Given the description of an element on the screen output the (x, y) to click on. 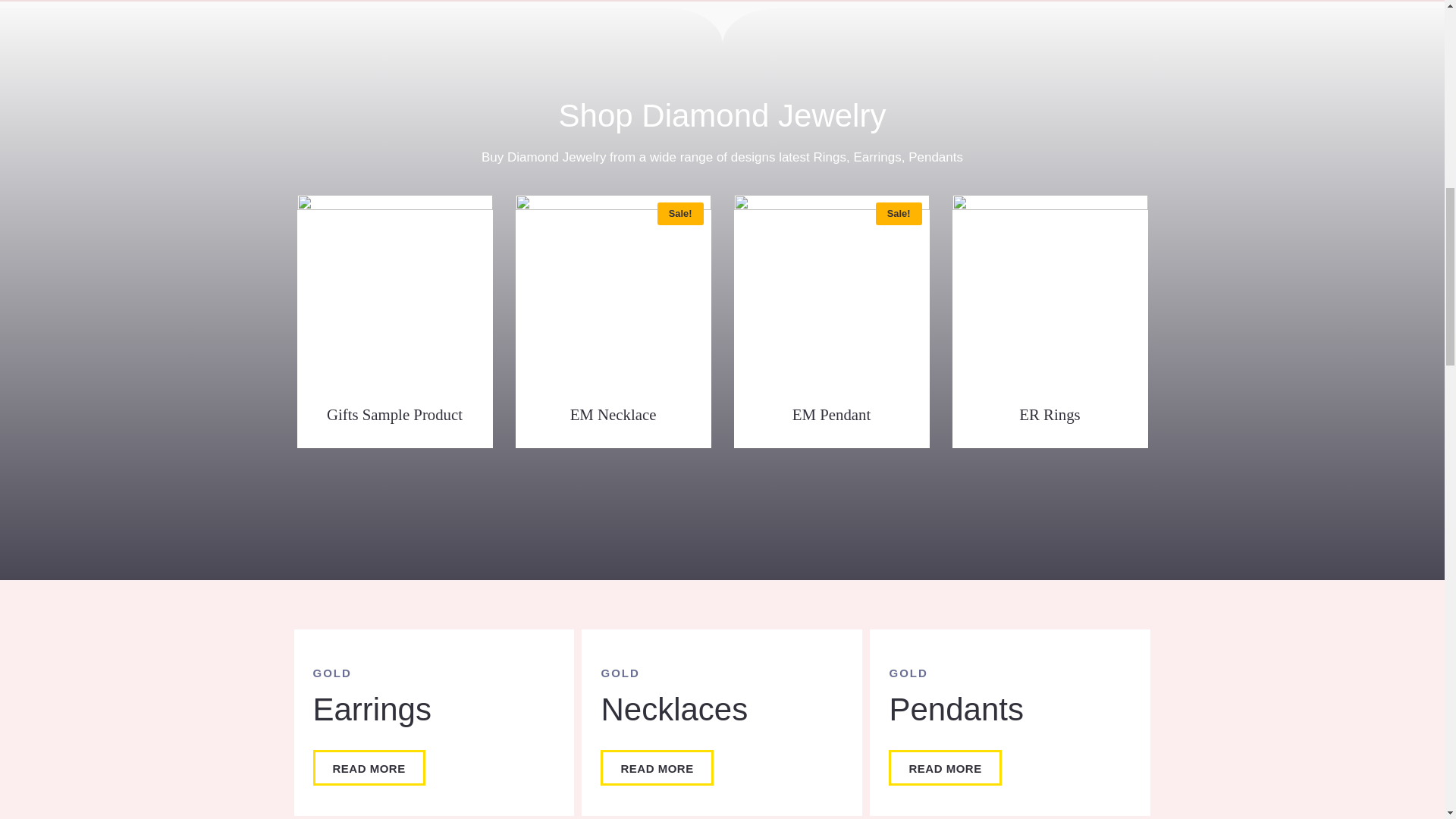
Sale! (613, 292)
Gifts Sample Product (395, 418)
